Given the description of an element on the screen output the (x, y) to click on. 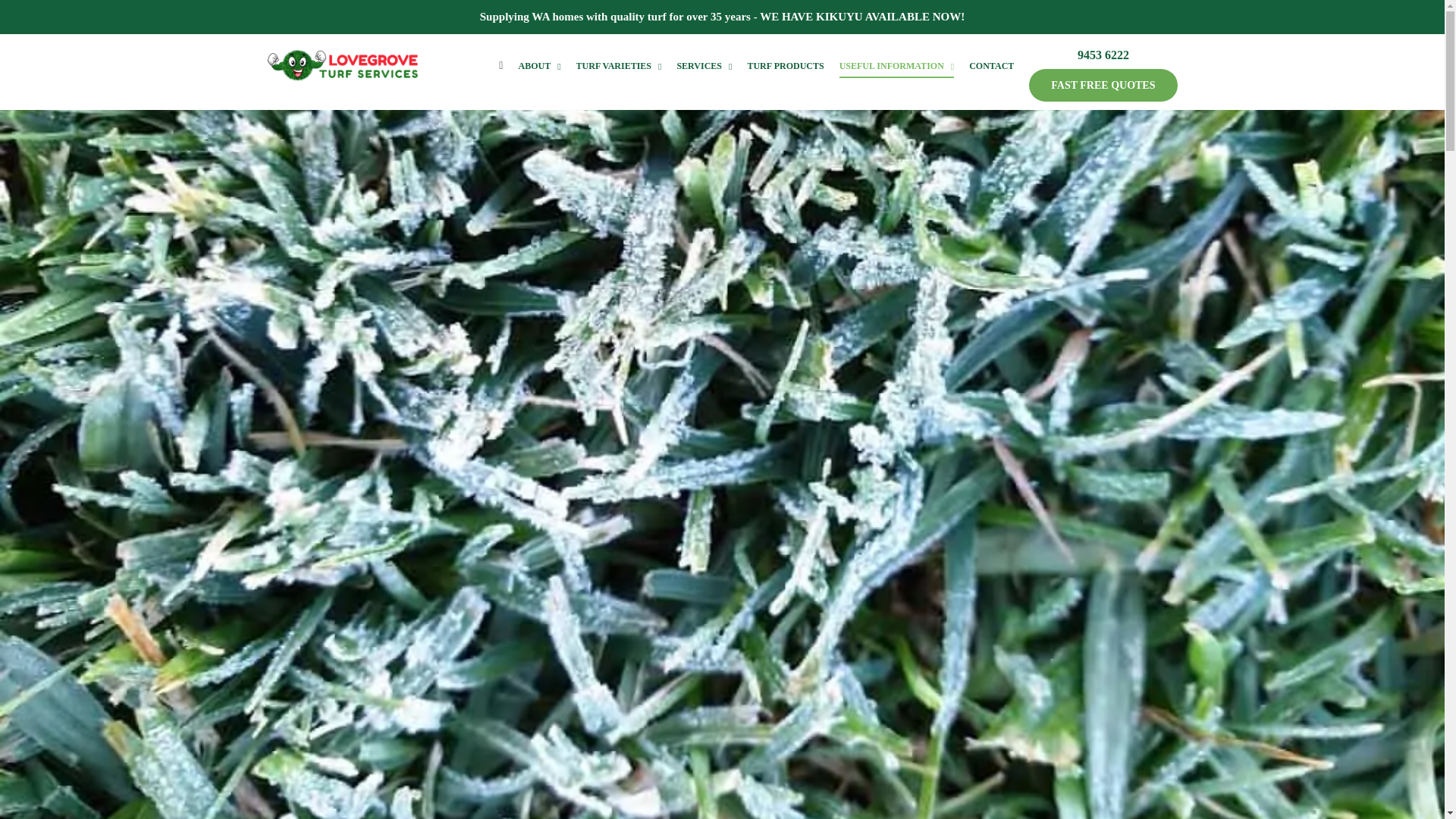
TURF PRODUCTS (785, 65)
TURF VARIETIES (619, 65)
USEFUL INFORMATION (897, 65)
9453 6222 (1102, 47)
FAST FREE QUOTES (1102, 84)
